Given the description of an element on the screen output the (x, y) to click on. 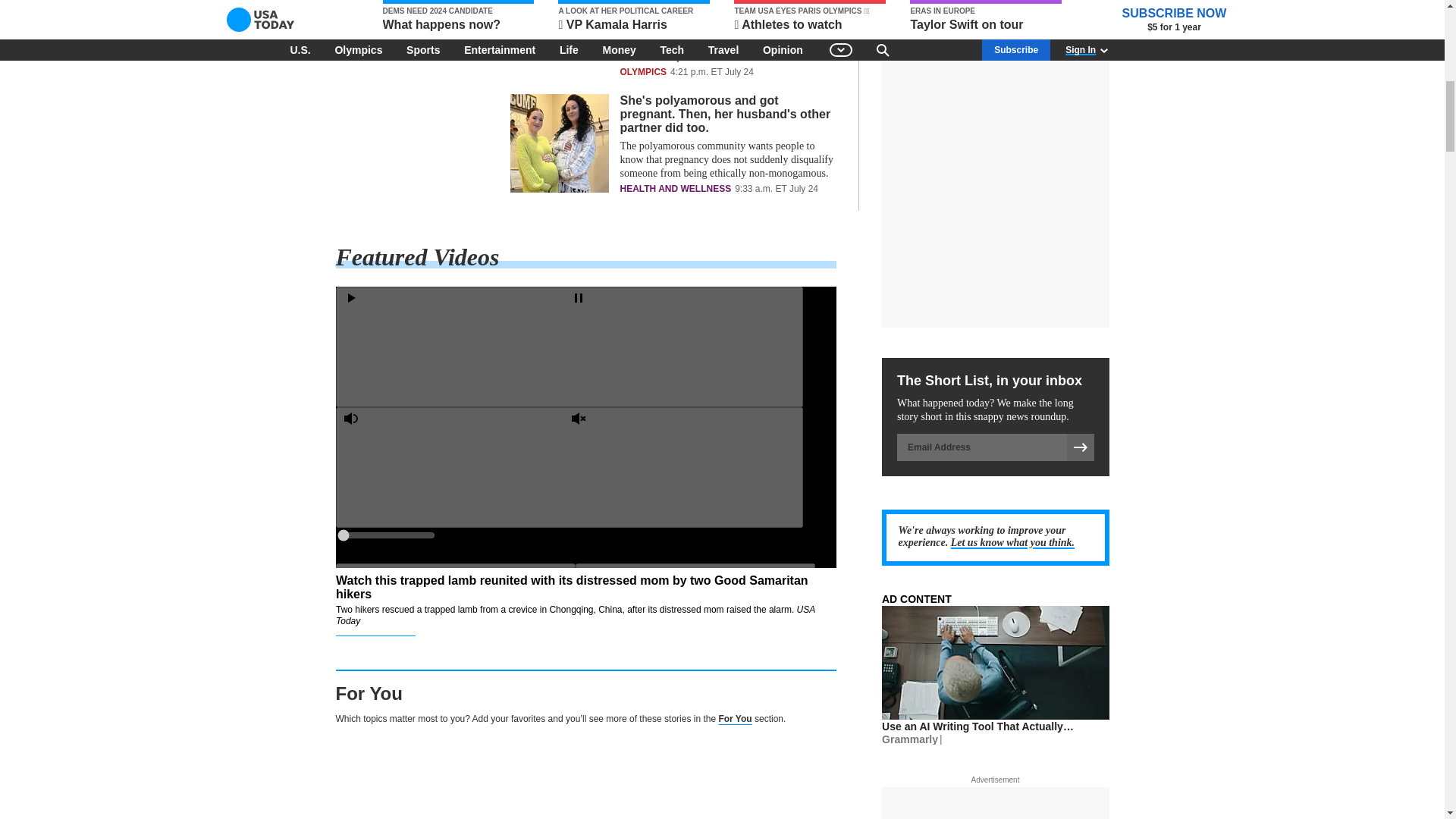
0 (384, 535)
Sound On (454, 466)
Play (454, 345)
Open Share (694, 622)
Enter Full Screen (454, 743)
ClosedCaption (454, 622)
Exit Full Screen (682, 743)
Pause (682, 345)
Sound Off (682, 466)
